Given the description of an element on the screen output the (x, y) to click on. 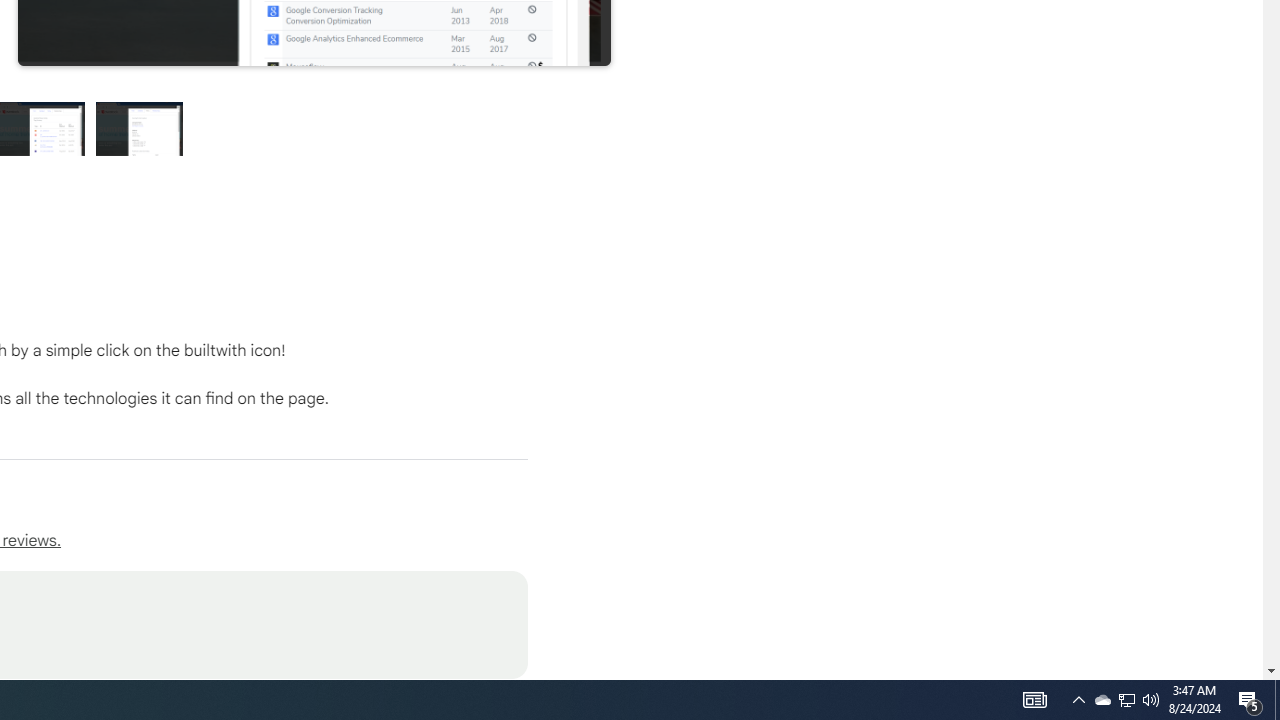
Preview slide 4 (140, 128)
